Given the description of an element on the screen output the (x, y) to click on. 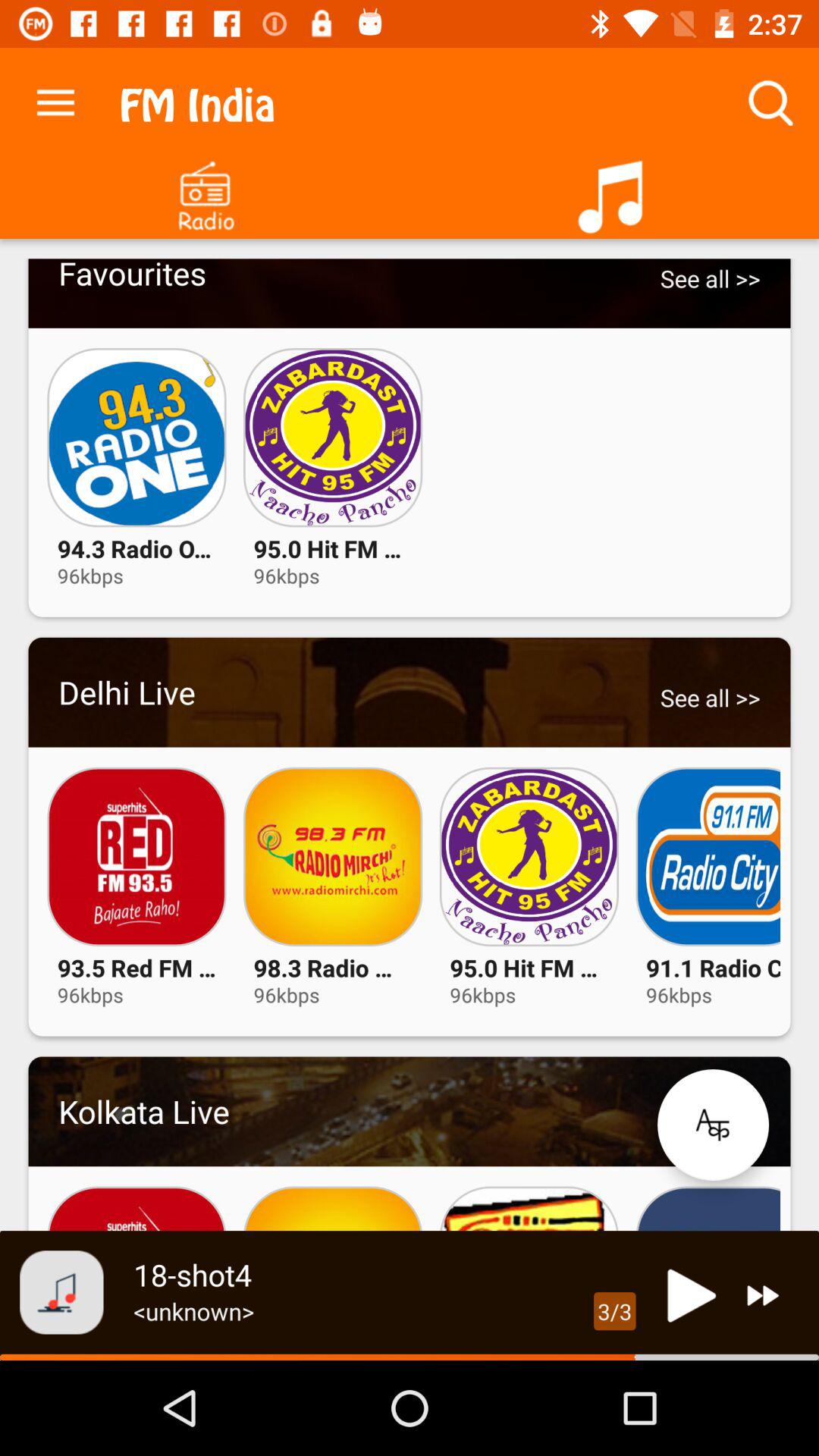
play (687, 1295)
